Given the description of an element on the screen output the (x, y) to click on. 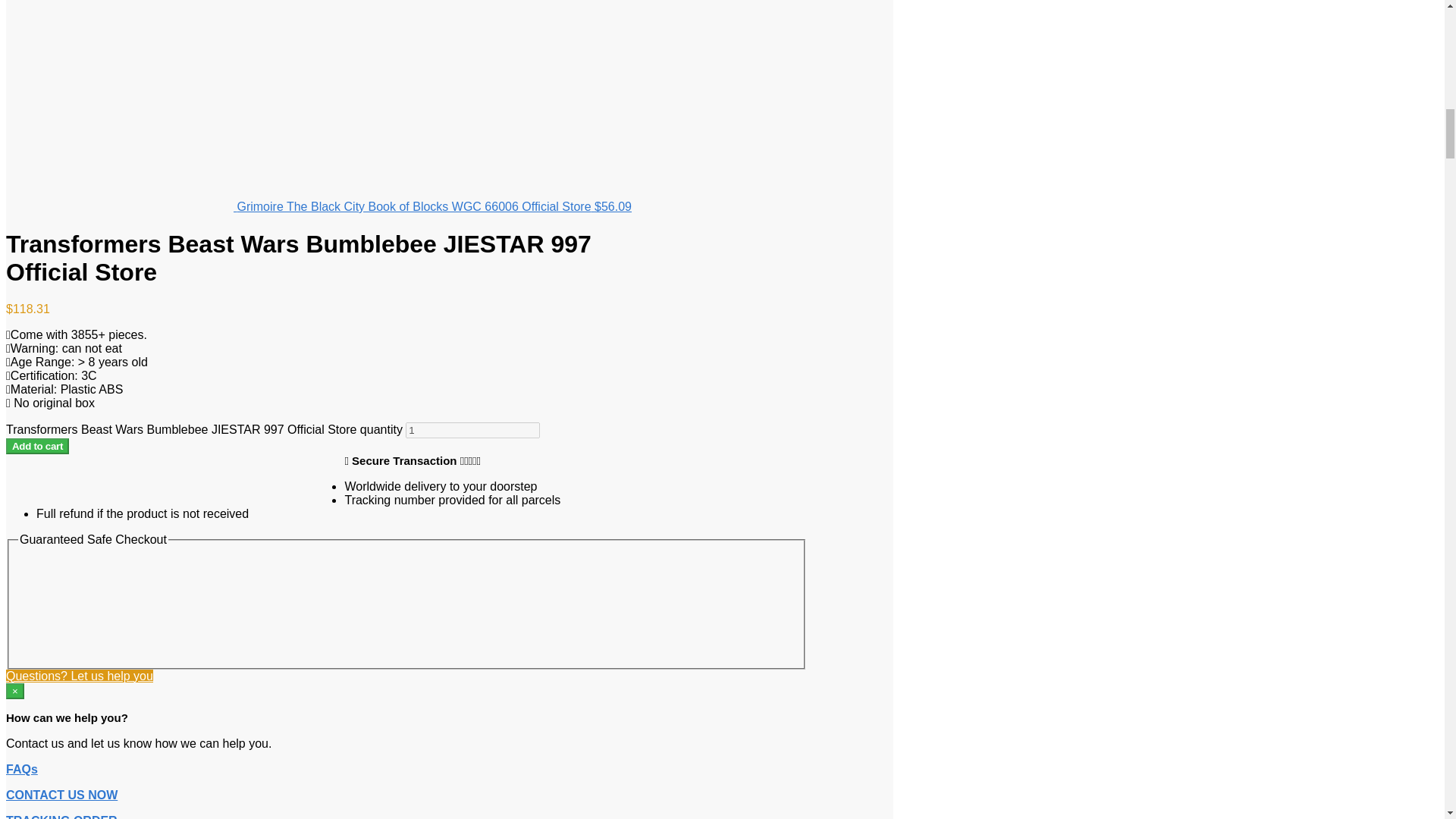
1 (473, 430)
